Given the description of an element on the screen output the (x, y) to click on. 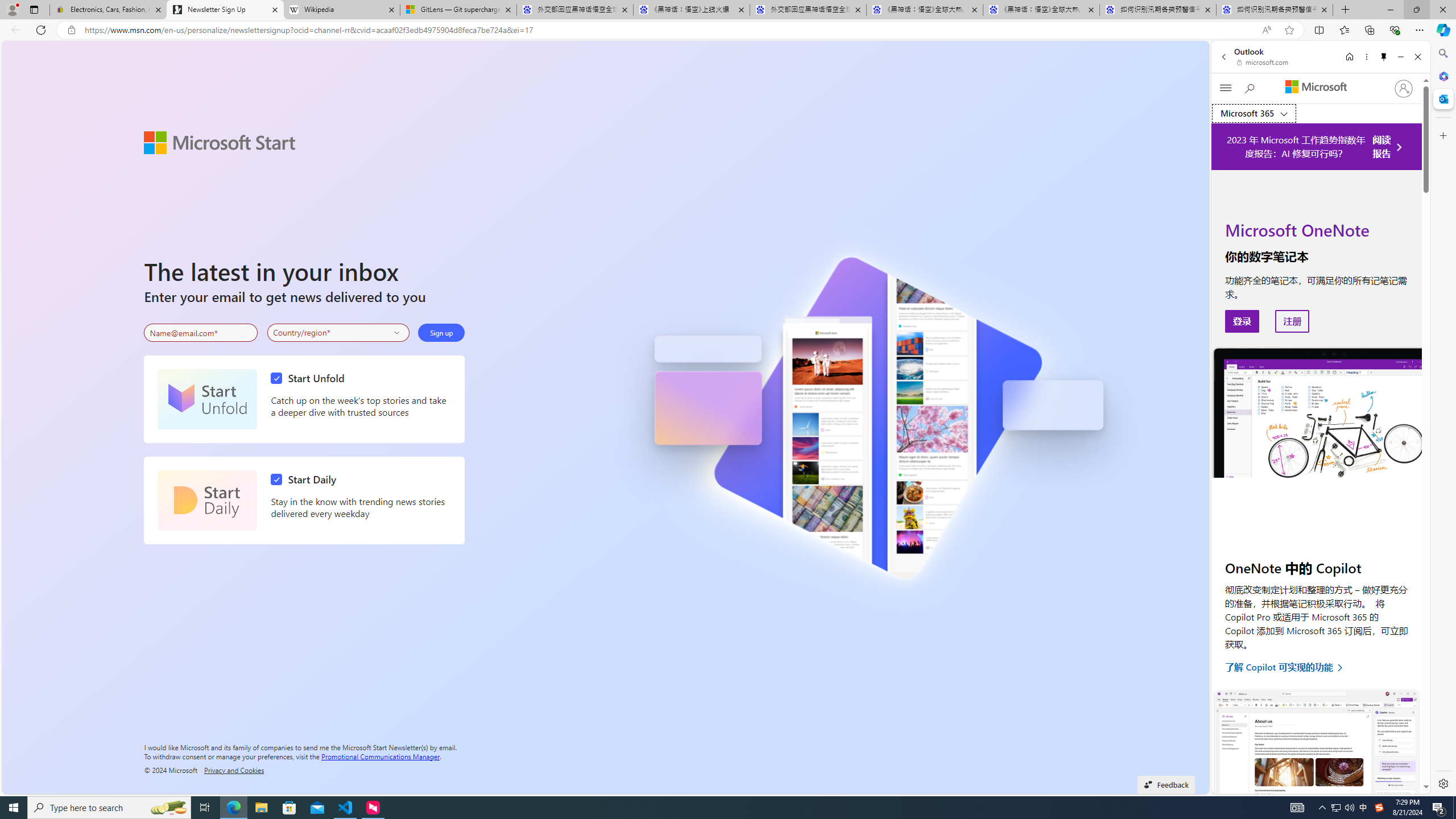
Start Daily (207, 500)
Privacy and Cookies (233, 769)
Outlook (1442, 98)
Electronics, Cars, Fashion, Collectibles & More | eBay (108, 9)
Side bar (1443, 418)
Search (1442, 53)
Address and search bar (669, 29)
More options (1366, 56)
